Given the description of an element on the screen output the (x, y) to click on. 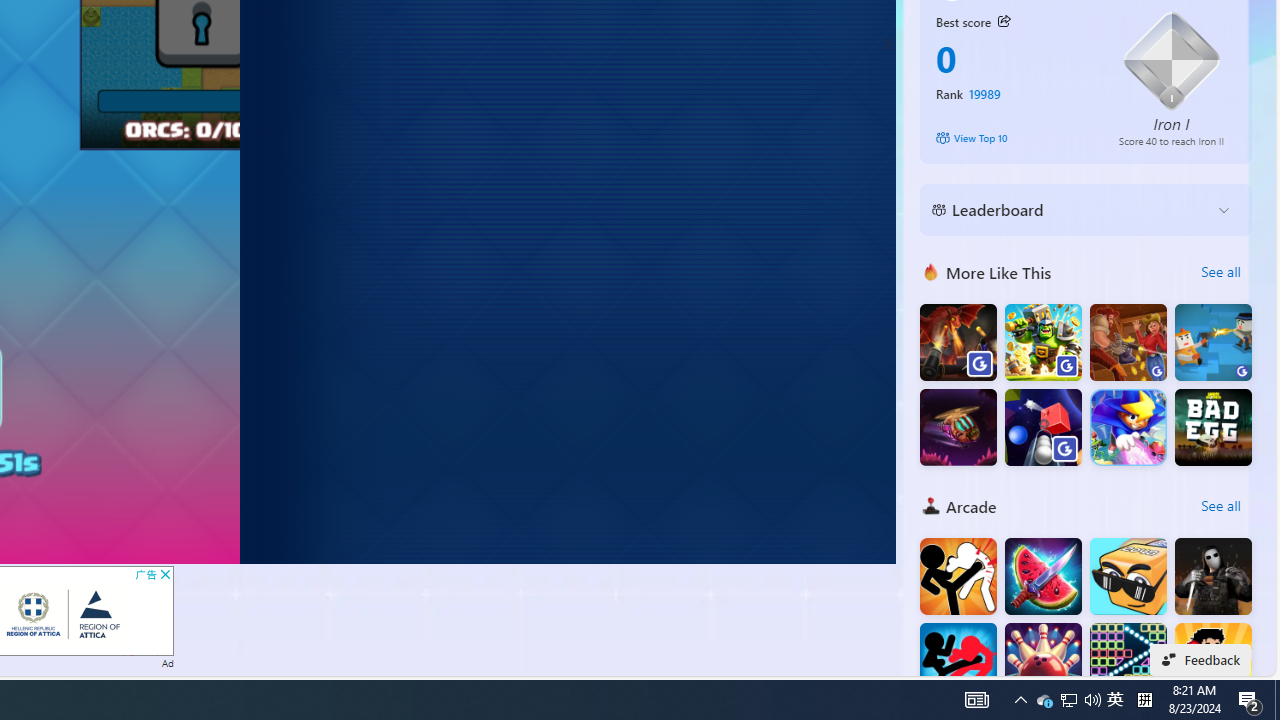
Saloon Robbery (1128, 342)
AutomationID: cbb (164, 574)
Hunter Hitman (1213, 576)
Castle Of Magic (1128, 427)
Boxing fighter : Super punch (1213, 661)
Heli Dash (958, 427)
Kingdom Fight (1042, 342)
See all (1220, 506)
Stickman Fighter : Mega Brawl (958, 576)
Leaderboard (1069, 209)
View Top 10 (1014, 138)
Gun Master (1213, 342)
